Given the description of an element on the screen output the (x, y) to click on. 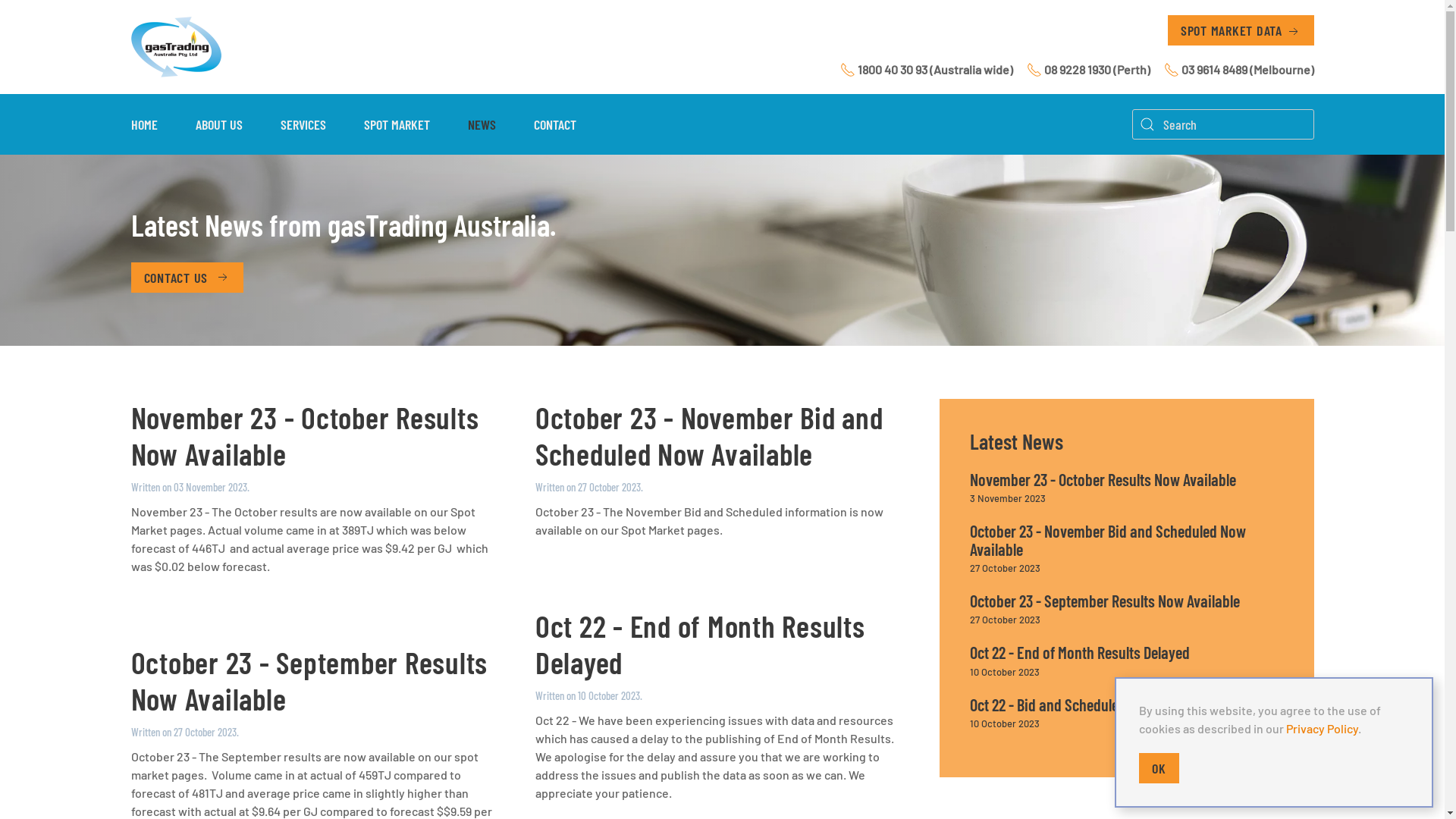
ABOUT US Element type: text (217, 124)
October 23 - November Bid and Scheduled Now Available Element type: text (709, 434)
October 23 - September Results Now Available Element type: text (1104, 600)
October 23 - November Bid and Scheduled Now Available Element type: text (1107, 539)
HOME Element type: text (144, 124)
OK Element type: text (1159, 768)
SERVICES Element type: text (302, 124)
October 23 - September Results Now Available Element type: text (308, 679)
Privacy Policy Element type: text (1322, 728)
CONTACT US Element type: text (186, 277)
SPOT MARKET DATA  Element type: text (1240, 30)
Oct 22 - End of Month Results Delayed Element type: text (1079, 652)
November 23 - October Results Now Available Element type: text (1102, 479)
Oct 22 - End of Month Results Delayed Element type: text (700, 643)
NEWS Element type: text (481, 124)
November 23 - October Results Now Available Element type: text (304, 434)
Oct 22 - Bid and Scheduled Available Element type: text (1075, 704)
CONTACT Element type: text (554, 124)
SPOT MARKET Element type: text (396, 124)
